Given the description of an element on the screen output the (x, y) to click on. 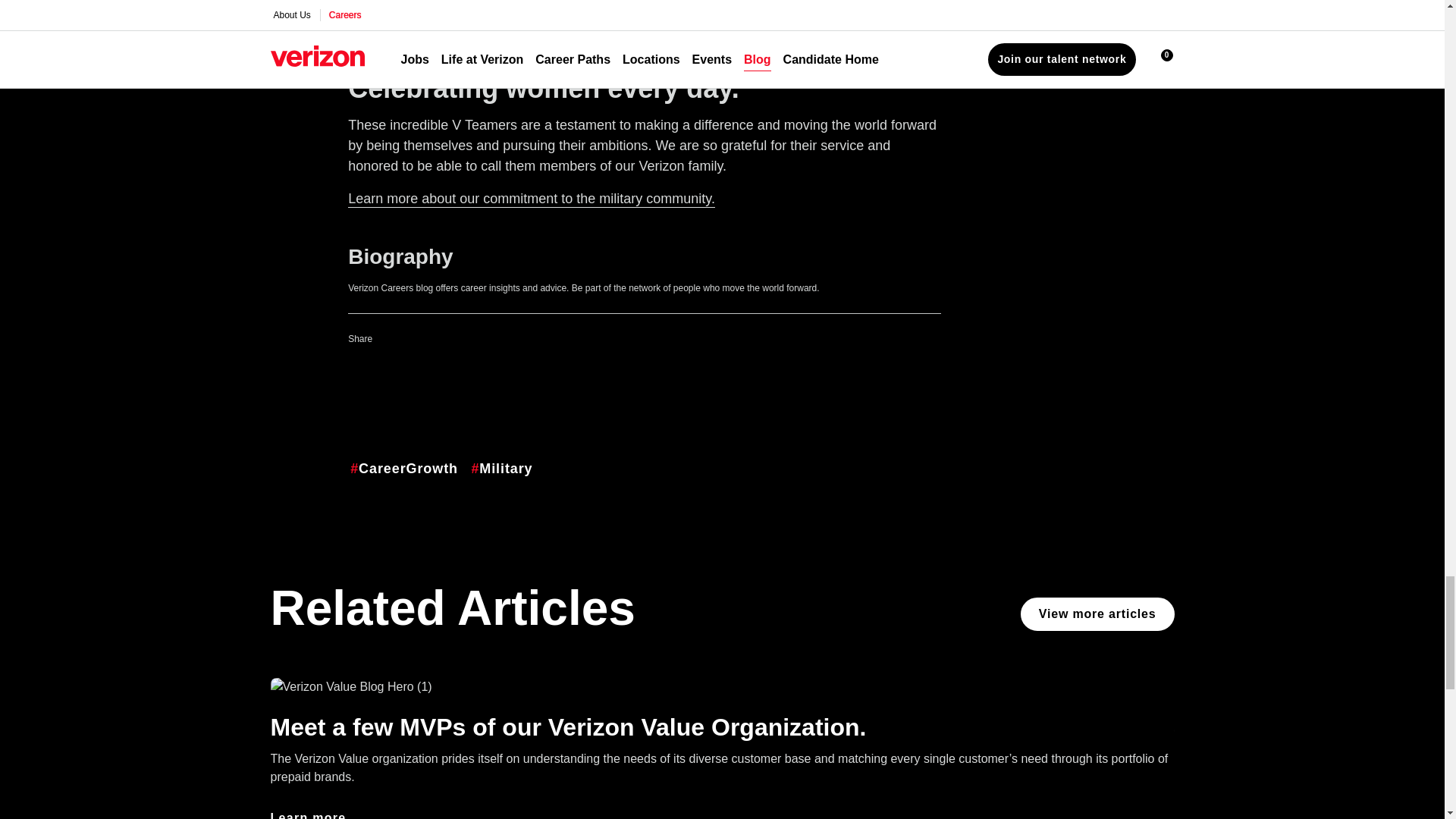
Military (530, 199)
View posts tagged 'CareerGrowth' (403, 468)
View posts tagged 'Military' (501, 468)
